Given the description of an element on the screen output the (x, y) to click on. 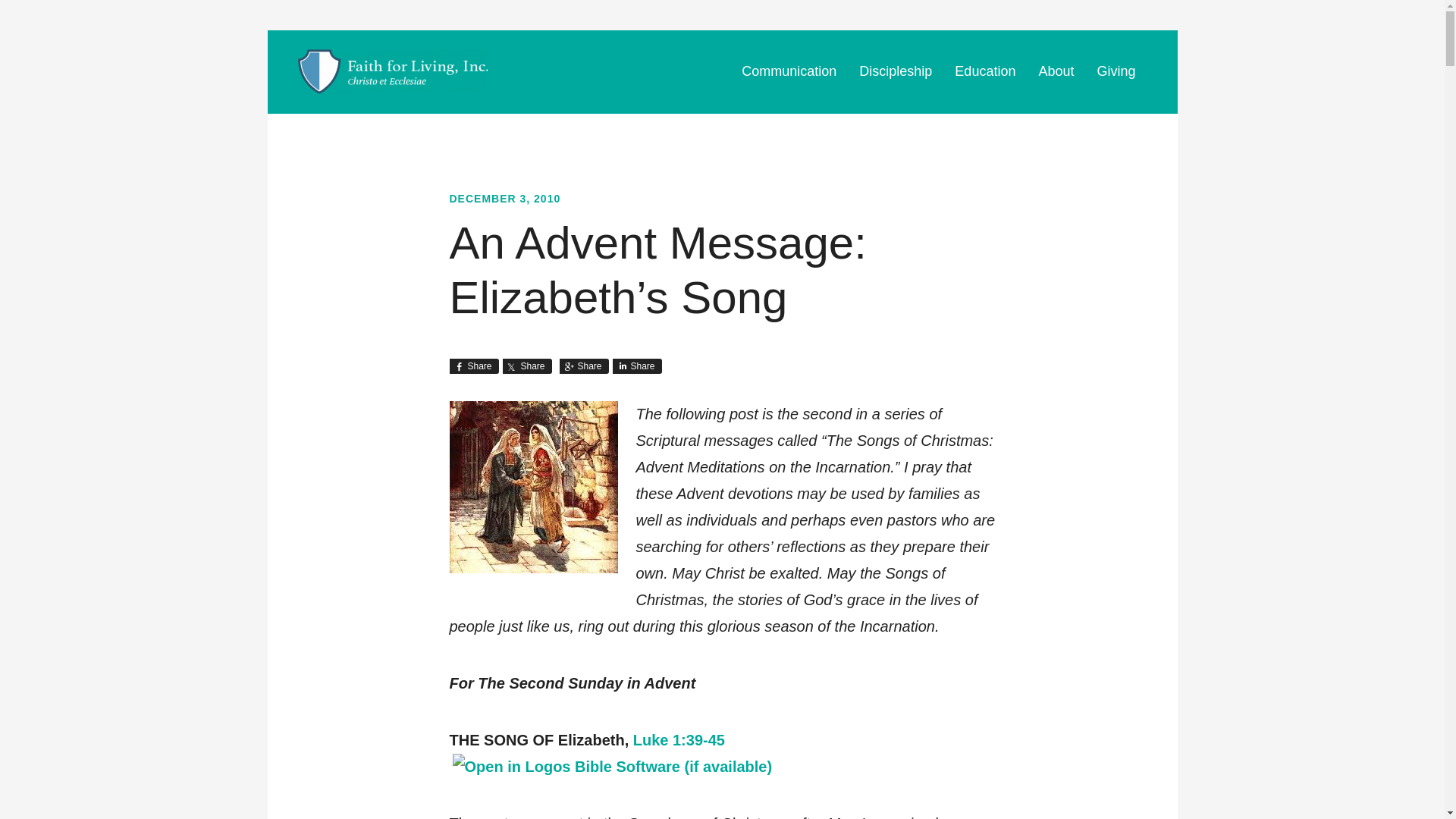
Education (984, 71)
Giving (1115, 71)
About (1055, 71)
Share (583, 365)
Share (526, 365)
Discipleship (895, 71)
Share (472, 365)
MICHAEL MILTON (391, 72)
Communication (788, 71)
Luke 1:39-45 (679, 739)
